Given the description of an element on the screen output the (x, y) to click on. 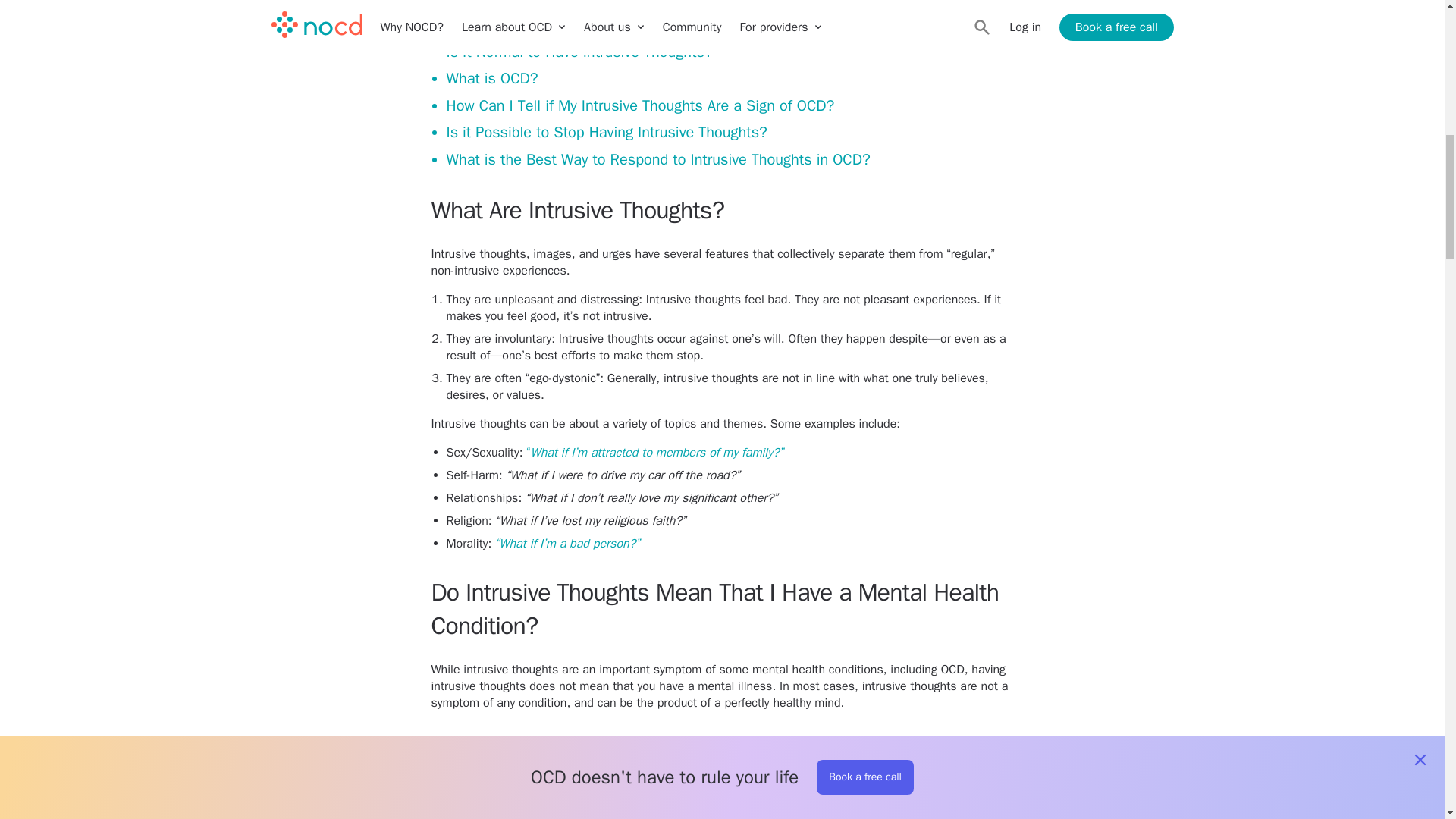
Is it Possible to Stop Having Intrusive Thoughts? (606, 132)
How Can I Tell if My Intrusive Thoughts Are a Sign of OCD? (639, 106)
Is It Normal to Have Intrusive Thoughts? (578, 52)
What Are Intrusive Thoughts? (542, 4)
What is OCD? (491, 78)
